Given the description of an element on the screen output the (x, y) to click on. 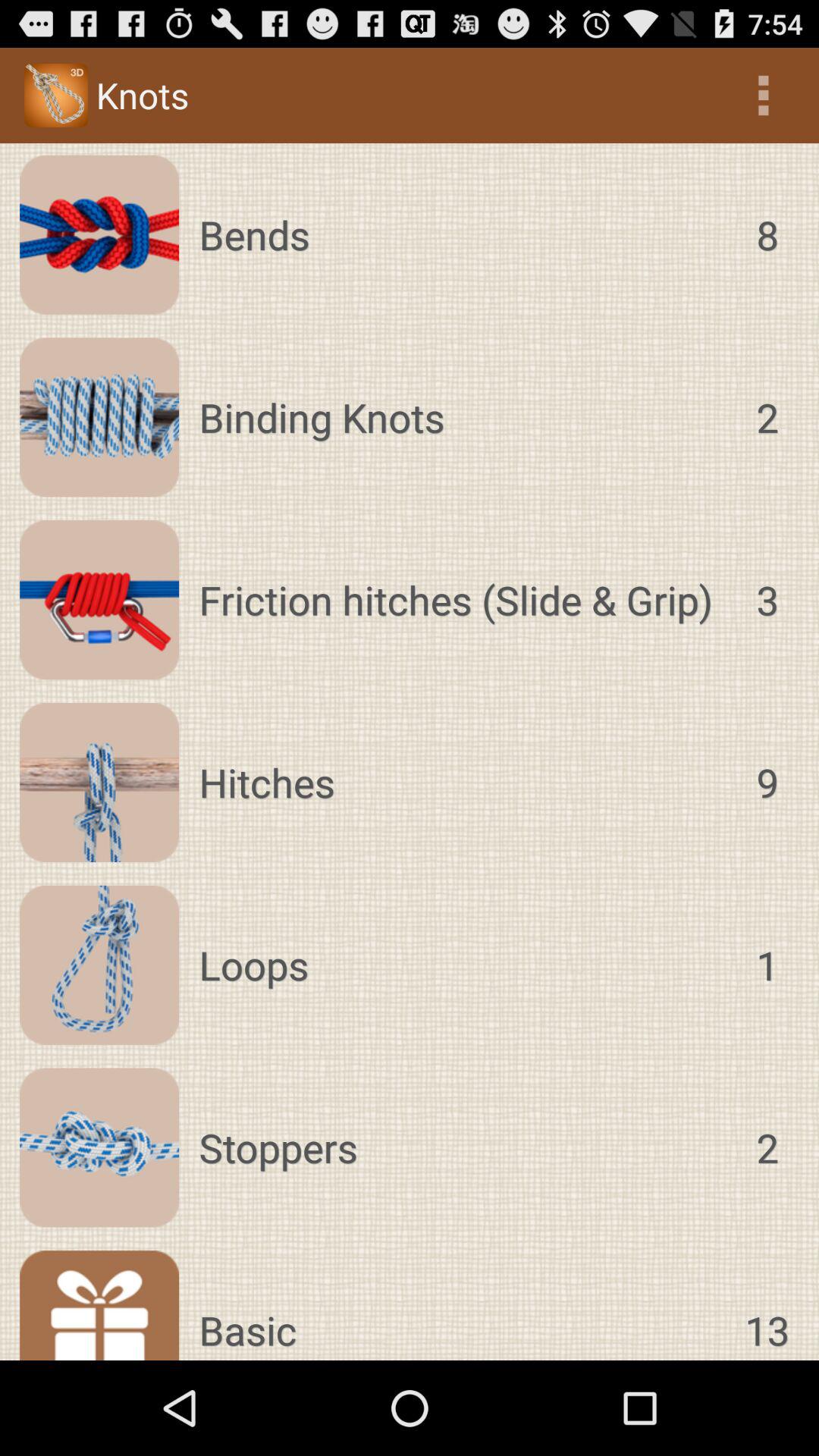
select the beside knots image (55, 95)
